Given the description of an element on the screen output the (x, y) to click on. 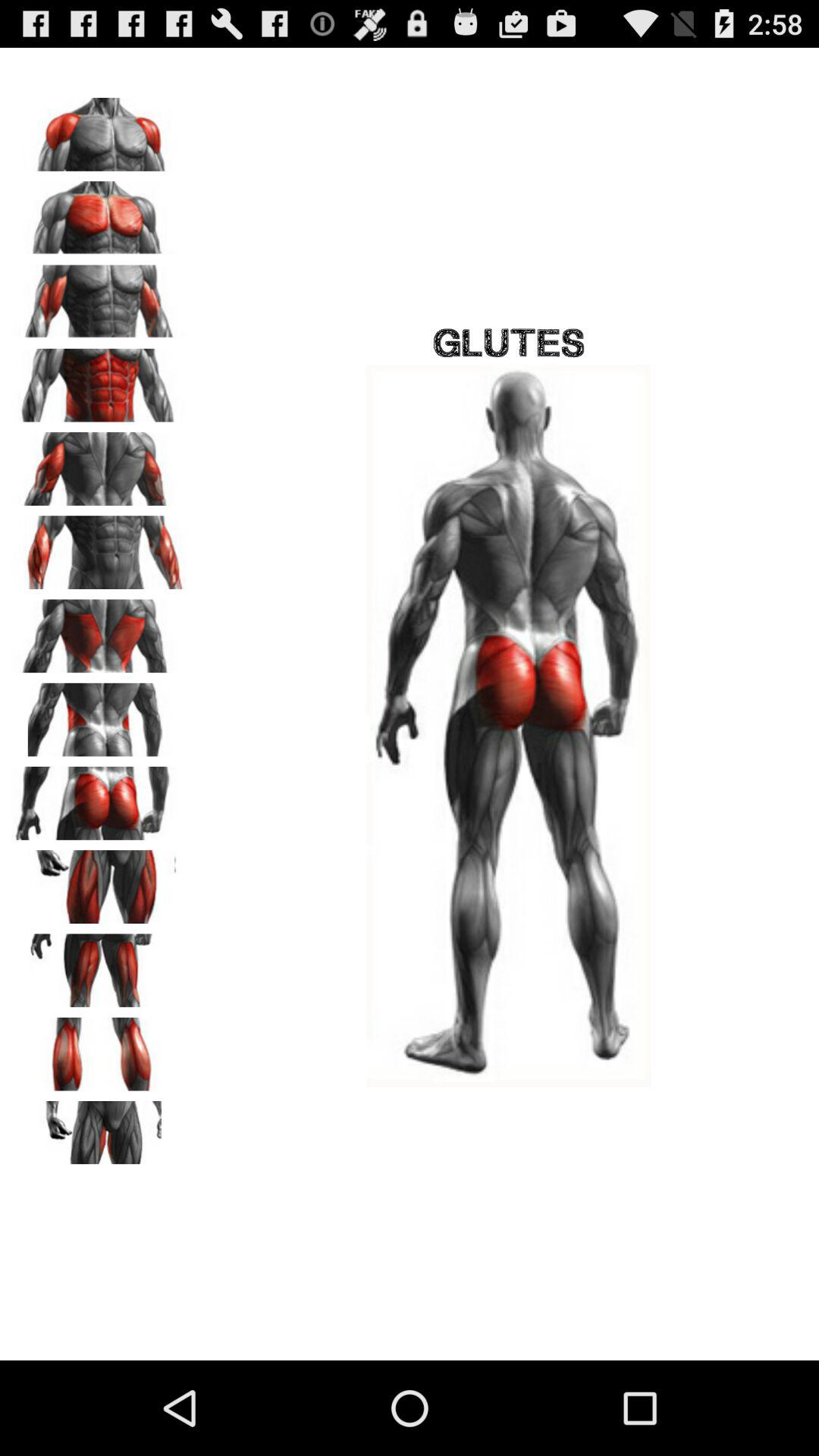
choose muscles (99, 965)
